Given the description of an element on the screen output the (x, y) to click on. 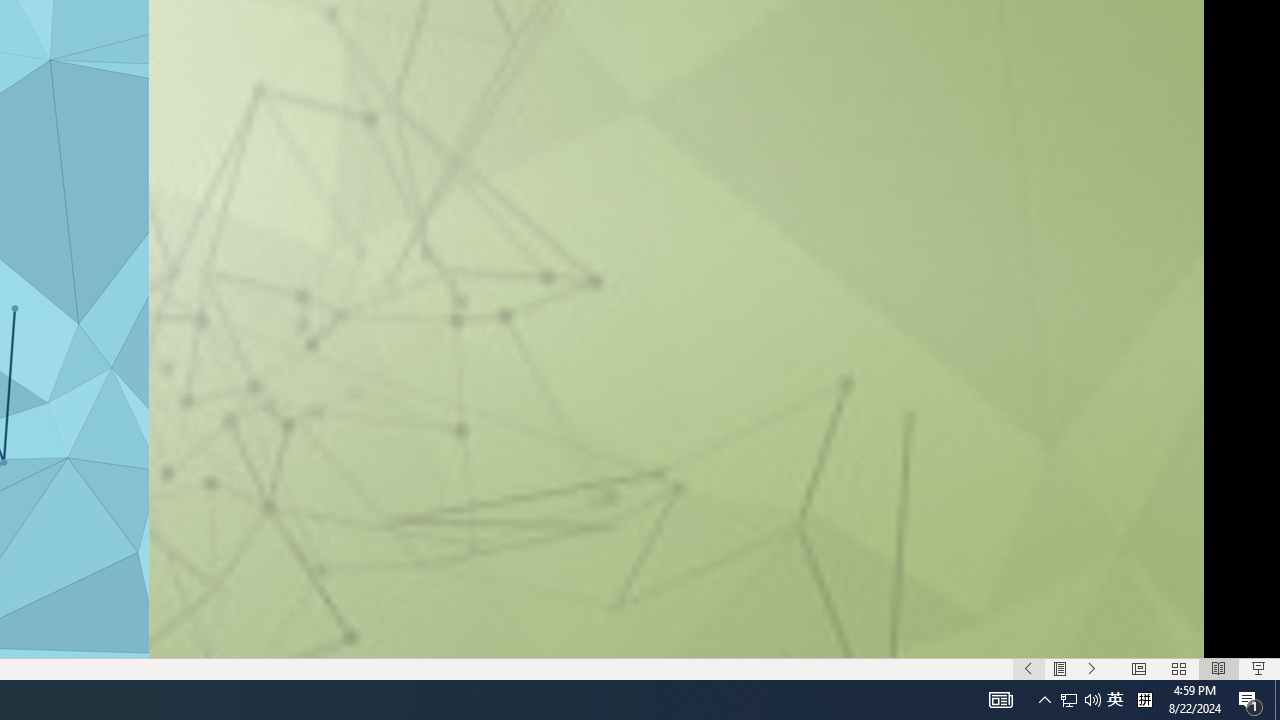
Slide Show Next On (1092, 668)
Slide Show Previous On (1028, 668)
Menu On (1060, 668)
